Given the description of an element on the screen output the (x, y) to click on. 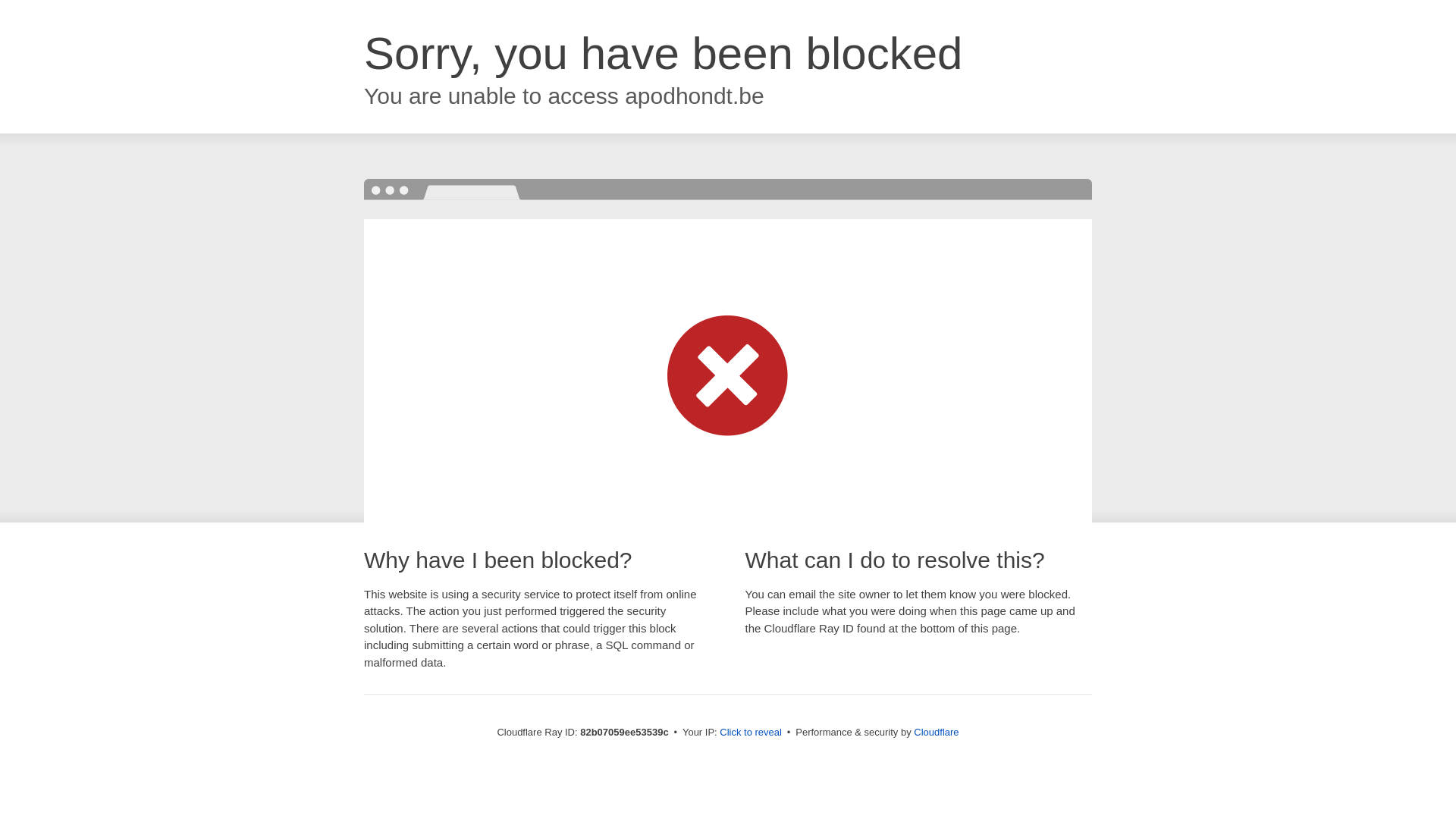
Click to reveal Element type: text (750, 732)
Cloudflare Element type: text (935, 731)
